Given the description of an element on the screen output the (x, y) to click on. 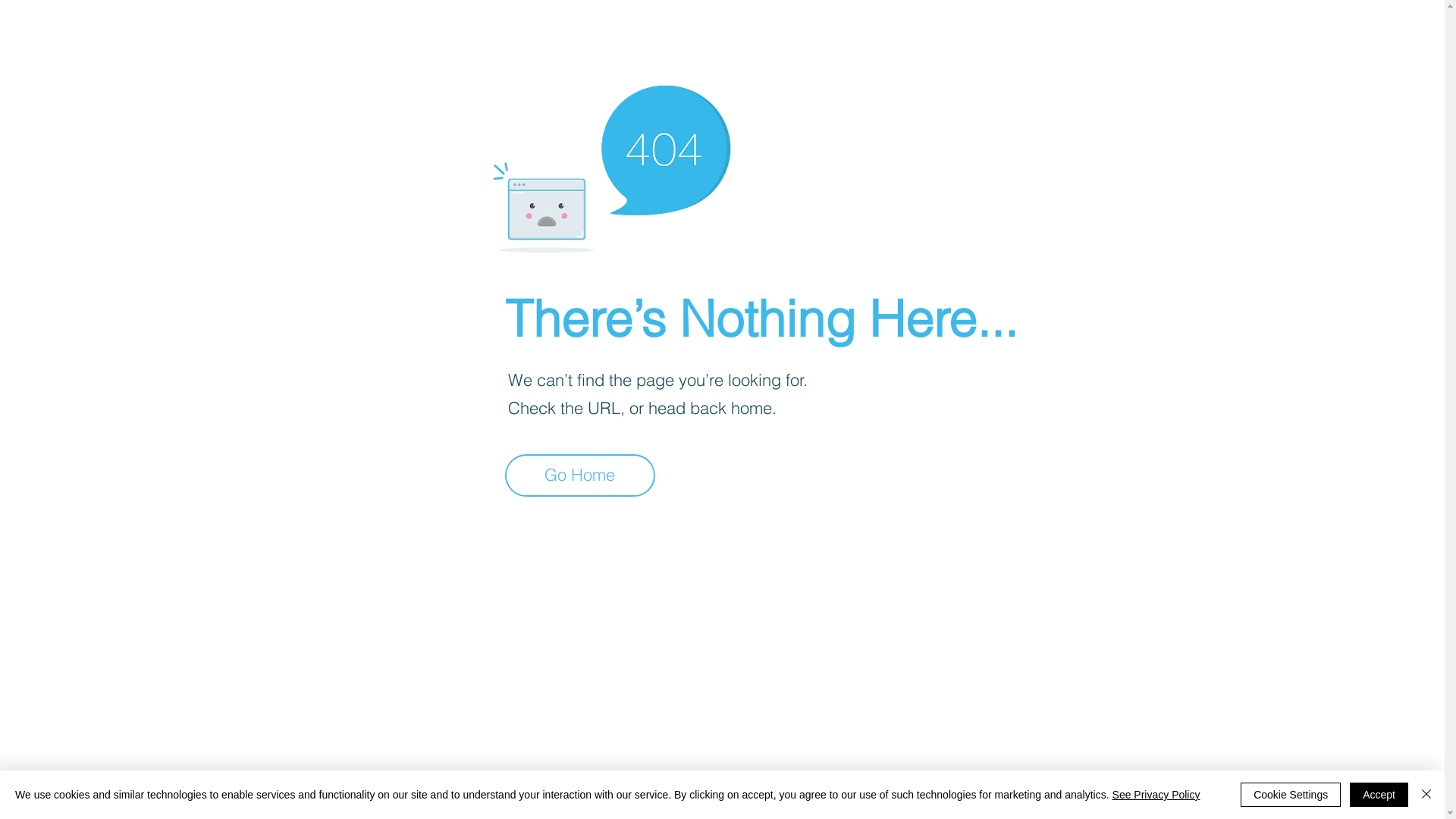
See Privacy Policy Element type: text (1156, 794)
Accept Element type: text (1378, 794)
Go Home Element type: text (580, 475)
404-icon_2.png Element type: hover (610, 164)
Cookie Settings Element type: text (1290, 794)
